Given the description of an element on the screen output the (x, y) to click on. 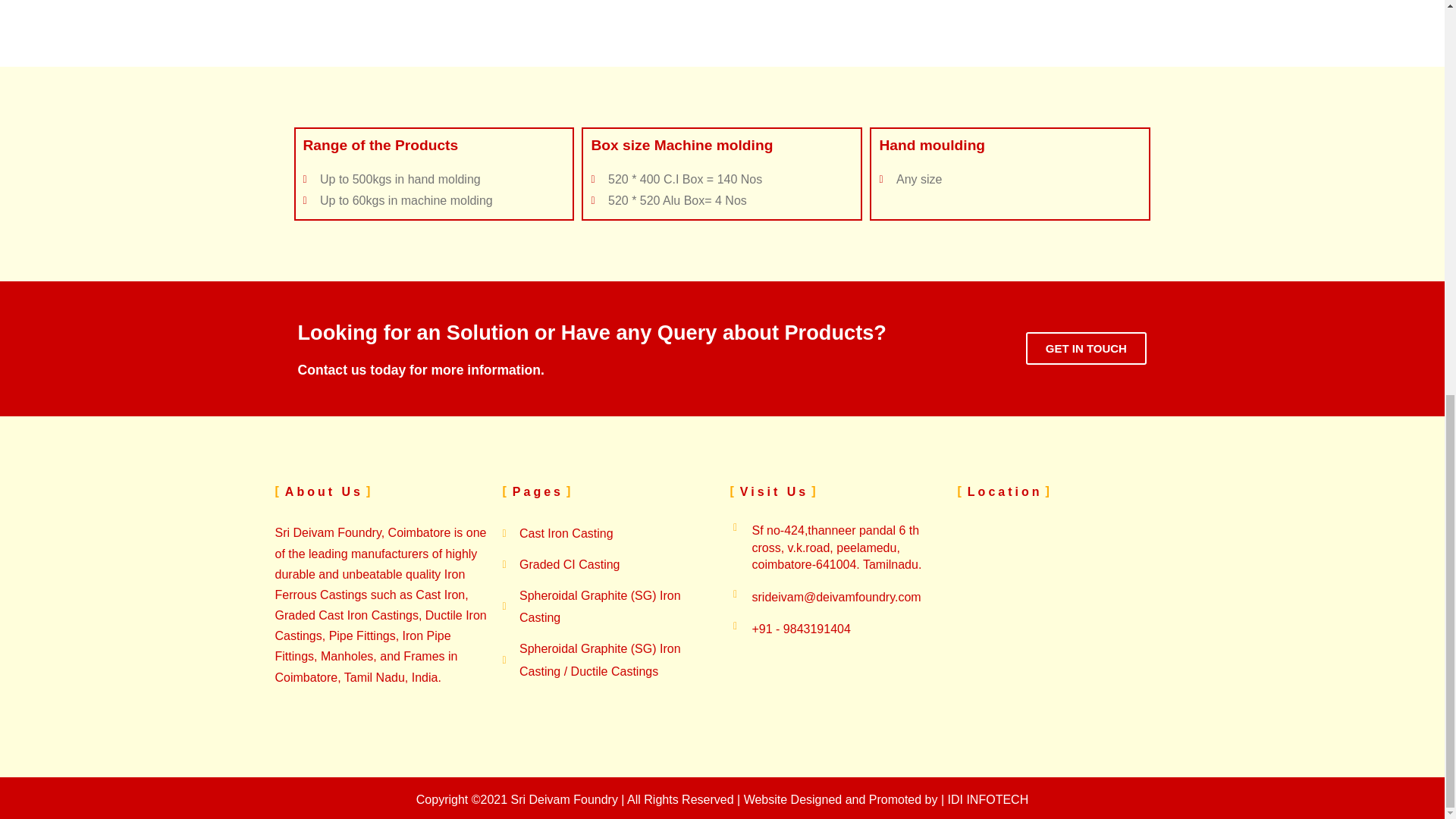
IDI INFOTECH (988, 799)
GET IN TOUCH (1086, 348)
Graded CI Casting (608, 564)
Cast Iron Casting (608, 533)
